Given the description of an element on the screen output the (x, y) to click on. 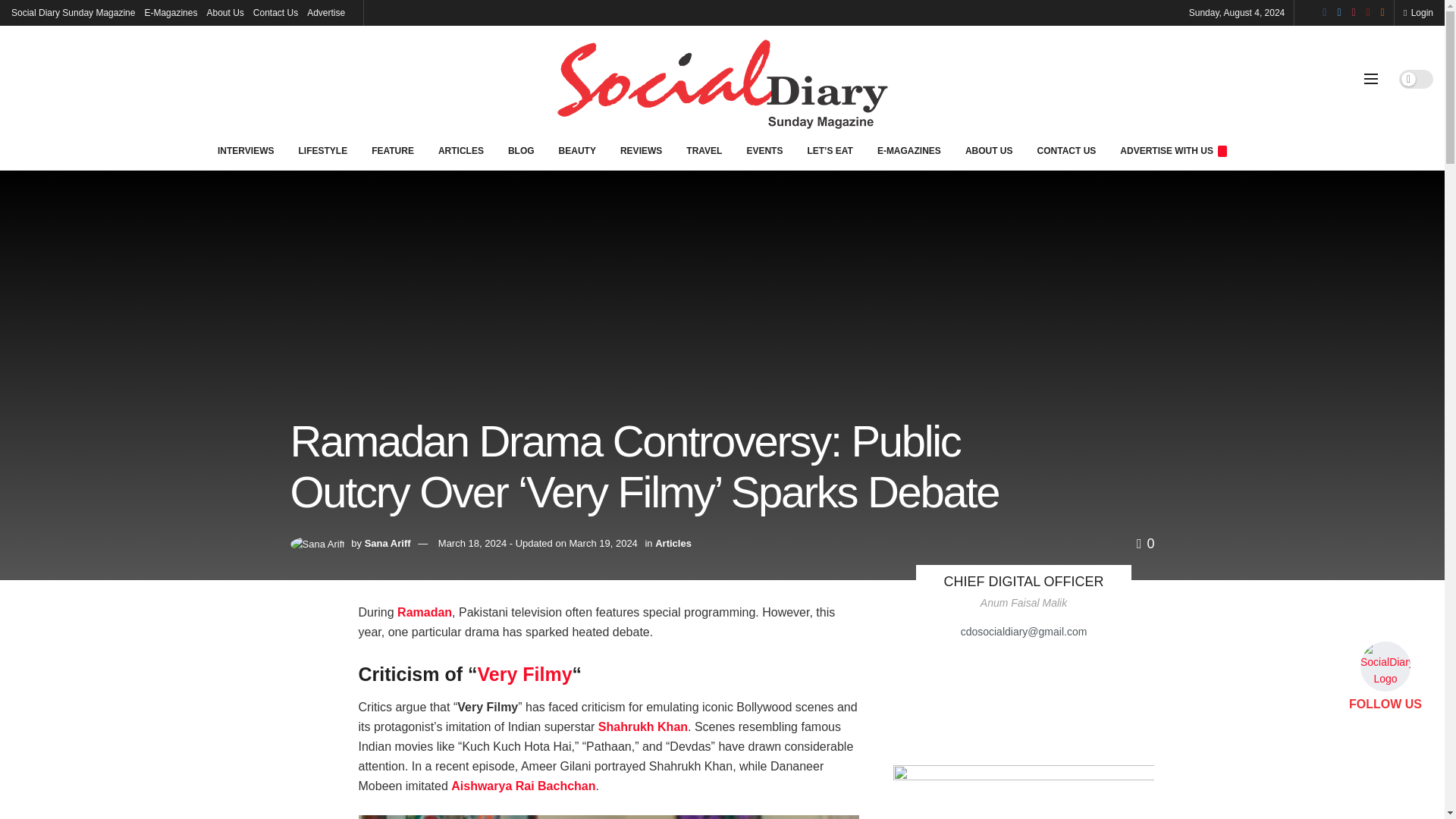
BEAUTY (577, 150)
CONTACT US (1066, 150)
E-MAGAZINES (908, 150)
REVIEWS (641, 150)
LIFESTYLE (322, 150)
About Us (224, 12)
Social Diary Sunday Magazine (73, 12)
Contact Us (275, 12)
INTERVIEWS (245, 150)
Login (1417, 12)
ADVERTISE WITH US (1173, 150)
BLOG (521, 150)
ARTICLES (461, 150)
FEATURE (392, 150)
TRAVEL (703, 150)
